Given the description of an element on the screen output the (x, y) to click on. 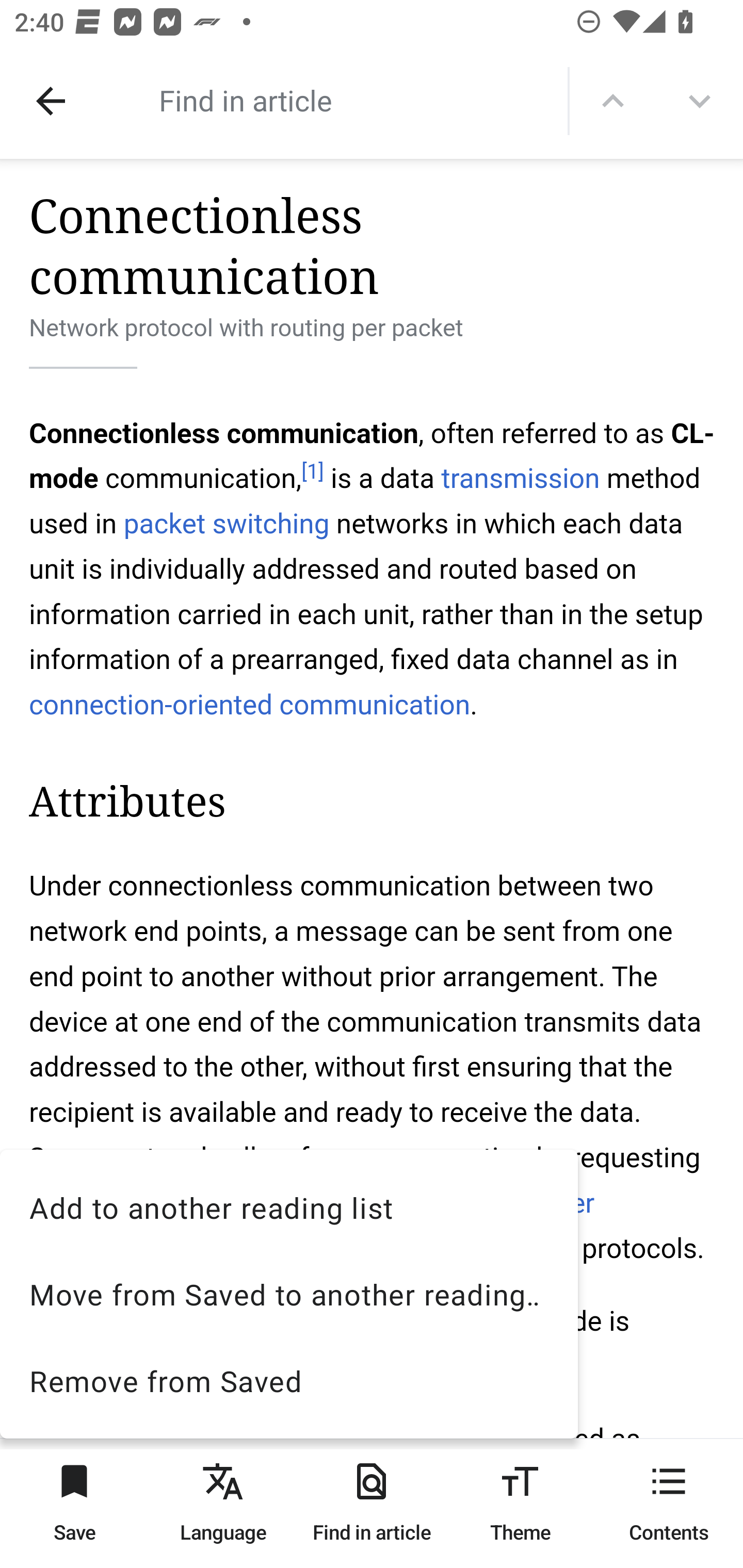
Add to another reading list (289, 1207)
Move from Saved to another reading list (289, 1294)
Remove from Saved (289, 1380)
